Given the description of an element on the screen output the (x, y) to click on. 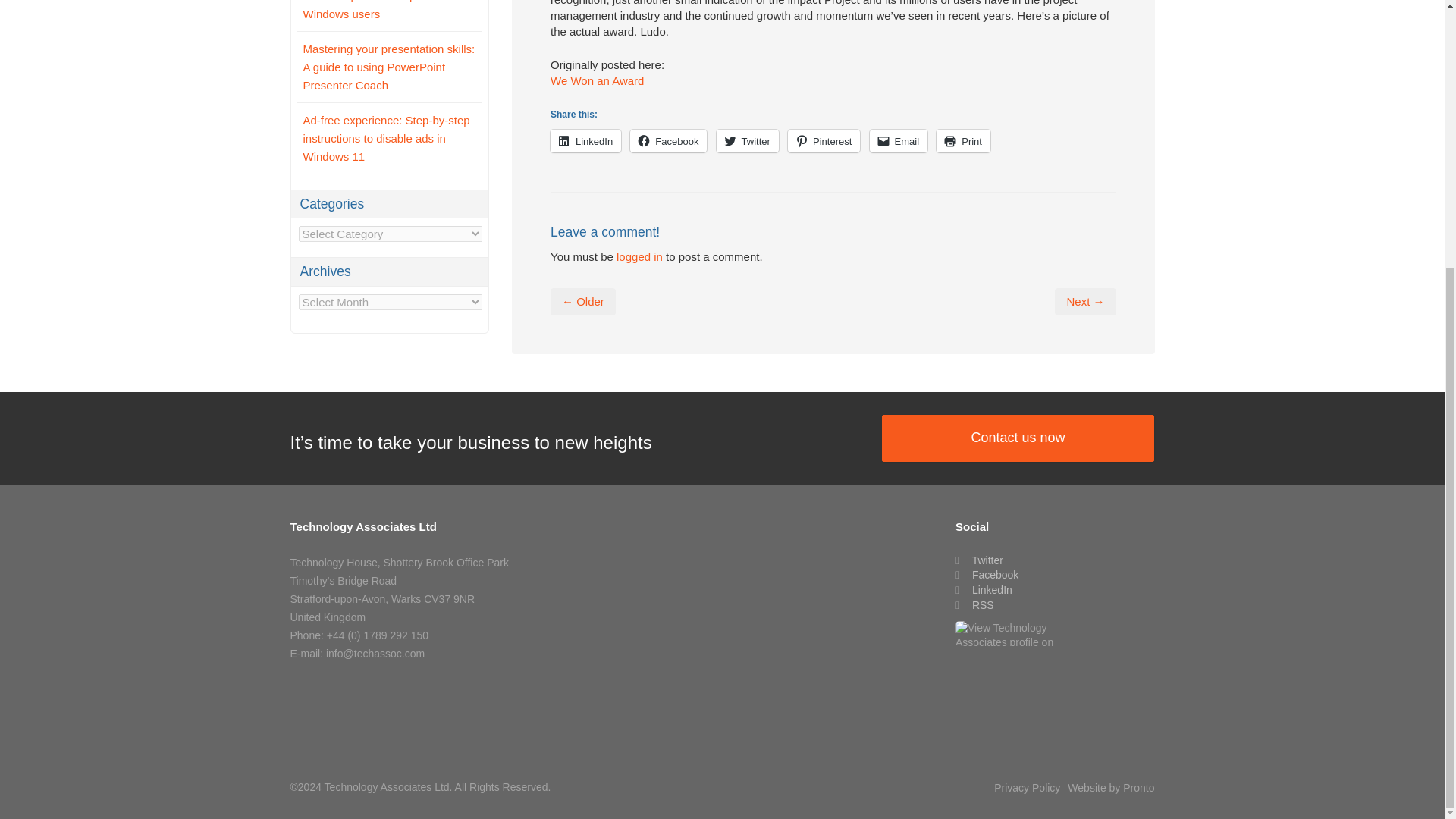
Facebook (668, 140)
LinkedIn (585, 140)
Pinterest (823, 140)
Click to share on Twitter (747, 140)
We Won an Award (596, 80)
Click to email a link to a friend (898, 140)
Click to share on Facebook (668, 140)
We Won an Award (596, 80)
Twitter (747, 140)
Click to share on LinkedIn (585, 140)
